Given the description of an element on the screen output the (x, y) to click on. 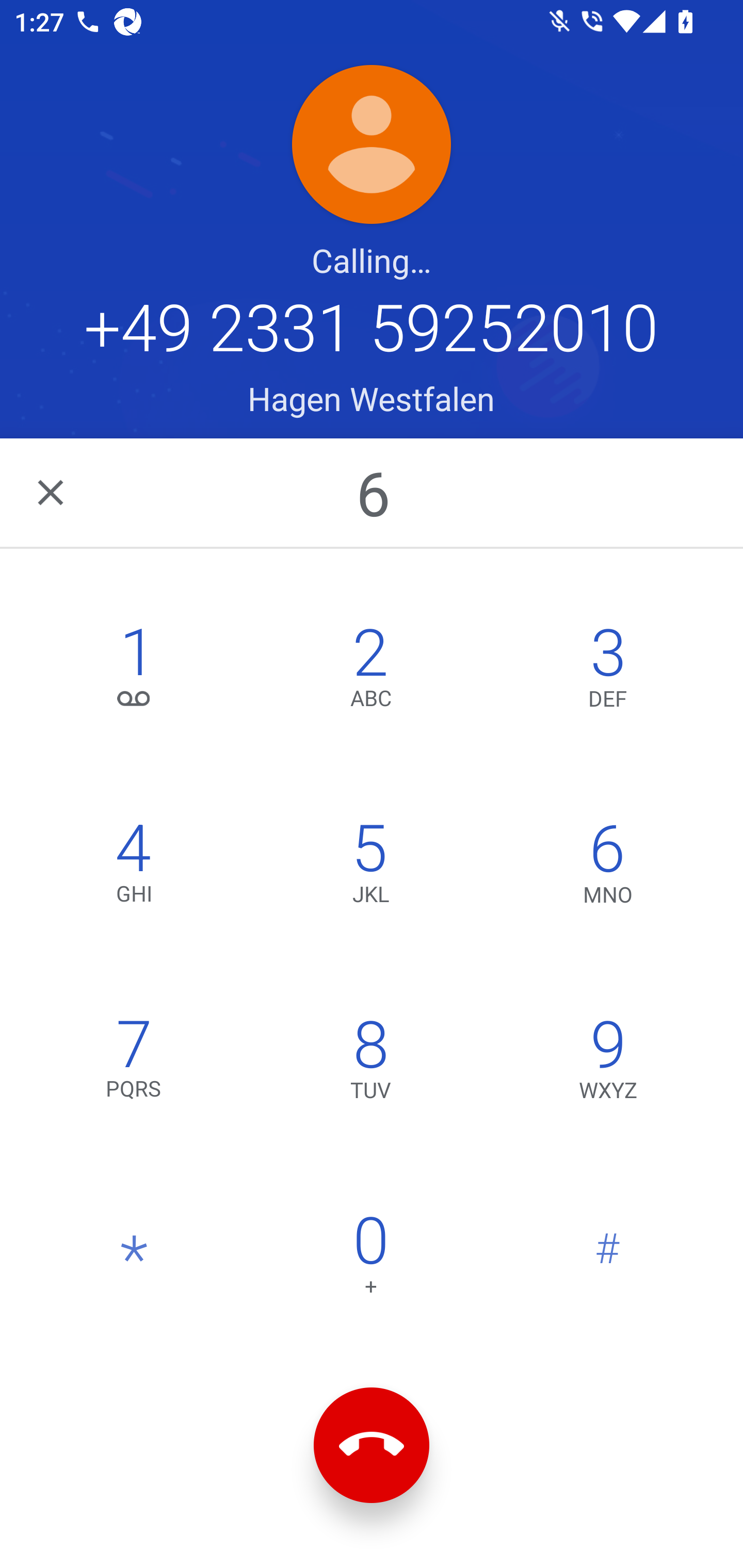
6 (372, 493)
Navigate back (52, 492)
1, 1 (133, 671)
2,ABC 2 ABC (370, 671)
3,DEF 3 DEF (607, 671)
4,GHI 4 GHI (133, 867)
5,JKL 5 JKL (370, 867)
6,MNO 6 MNO (607, 867)
7,PQRS 7 PQRS (133, 1063)
8,TUV 8 TUV (370, 1063)
9,WXYZ 9 WXYZ (607, 1063)
* (133, 1259)
0 0 + (370, 1259)
# (607, 1259)
End call (371, 1445)
